Given the description of an element on the screen output the (x, y) to click on. 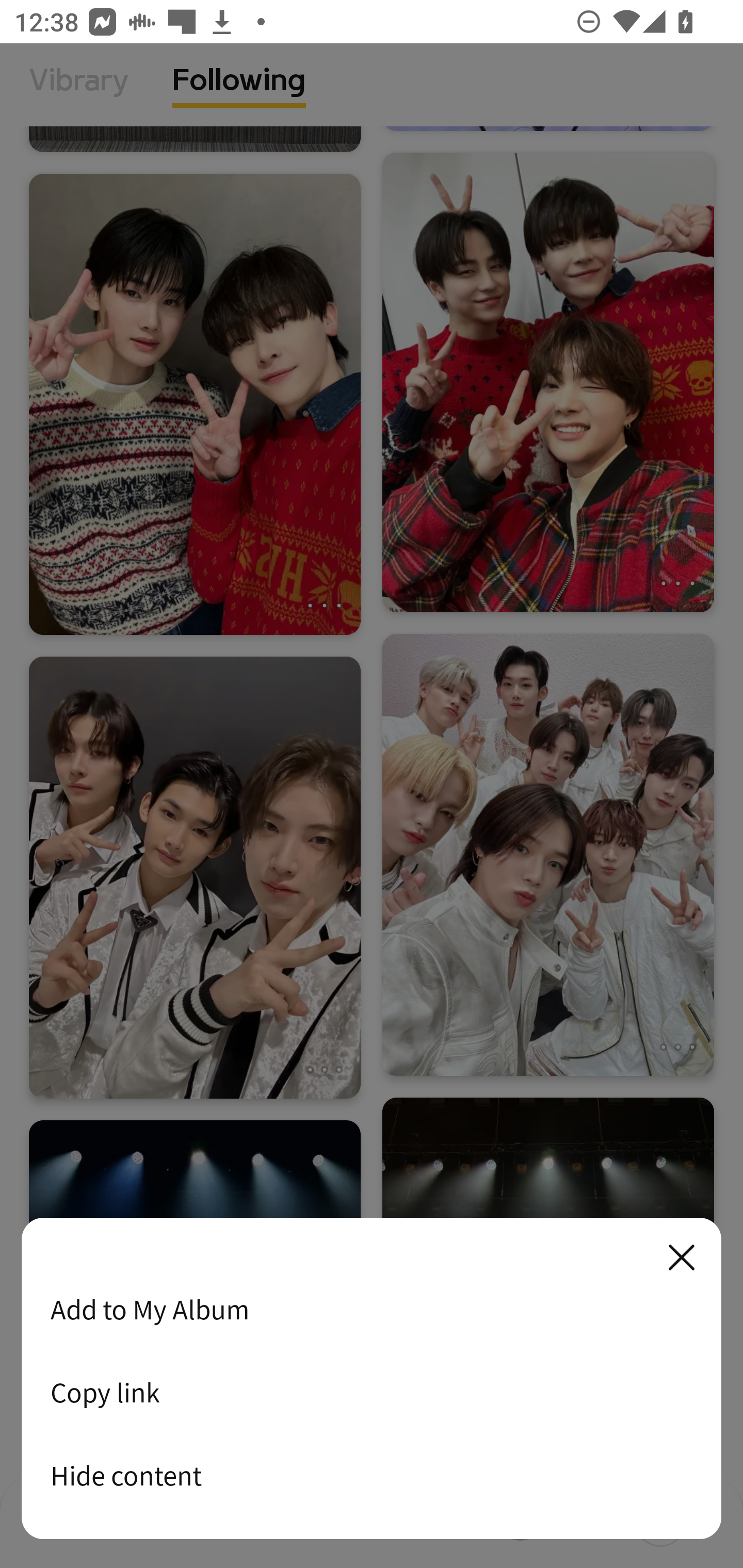
Add to My Album Copy link Hide content (371, 1378)
Add to My Album (371, 1308)
Copy link (371, 1391)
Hide content (371, 1474)
